Given the description of an element on the screen output the (x, y) to click on. 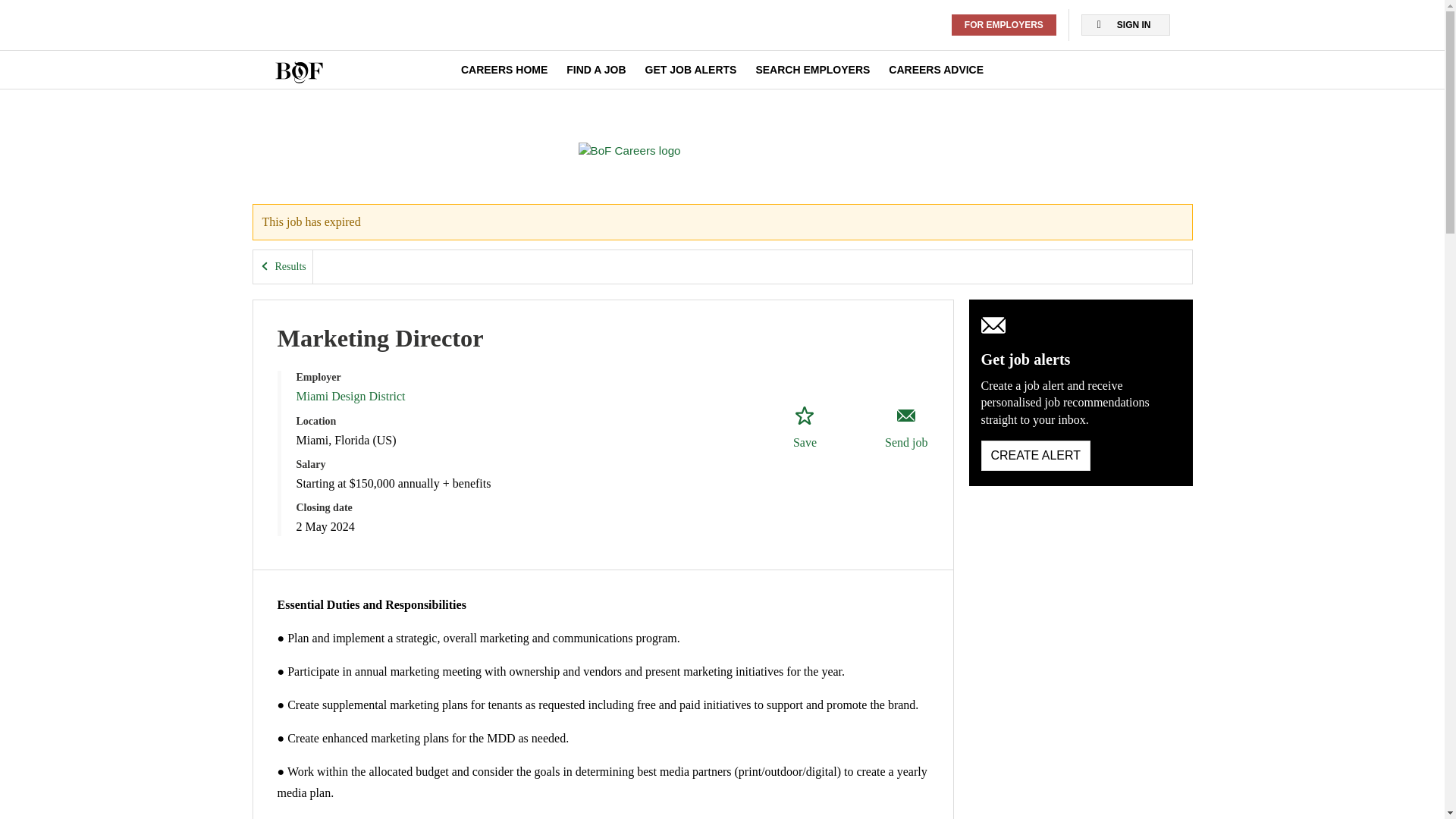
Results (283, 266)
BoF Careers (628, 150)
CAREERS ADVICE (936, 69)
SIGN IN (1125, 25)
SEARCH EMPLOYERS (812, 69)
Miami Design District (349, 395)
CREATE ALERT (1035, 455)
GET JOB ALERTS (690, 69)
CAREERS HOME (504, 69)
FOR EMPLOYERS (1004, 25)
FIND A JOB (596, 69)
